Given the description of an element on the screen output the (x, y) to click on. 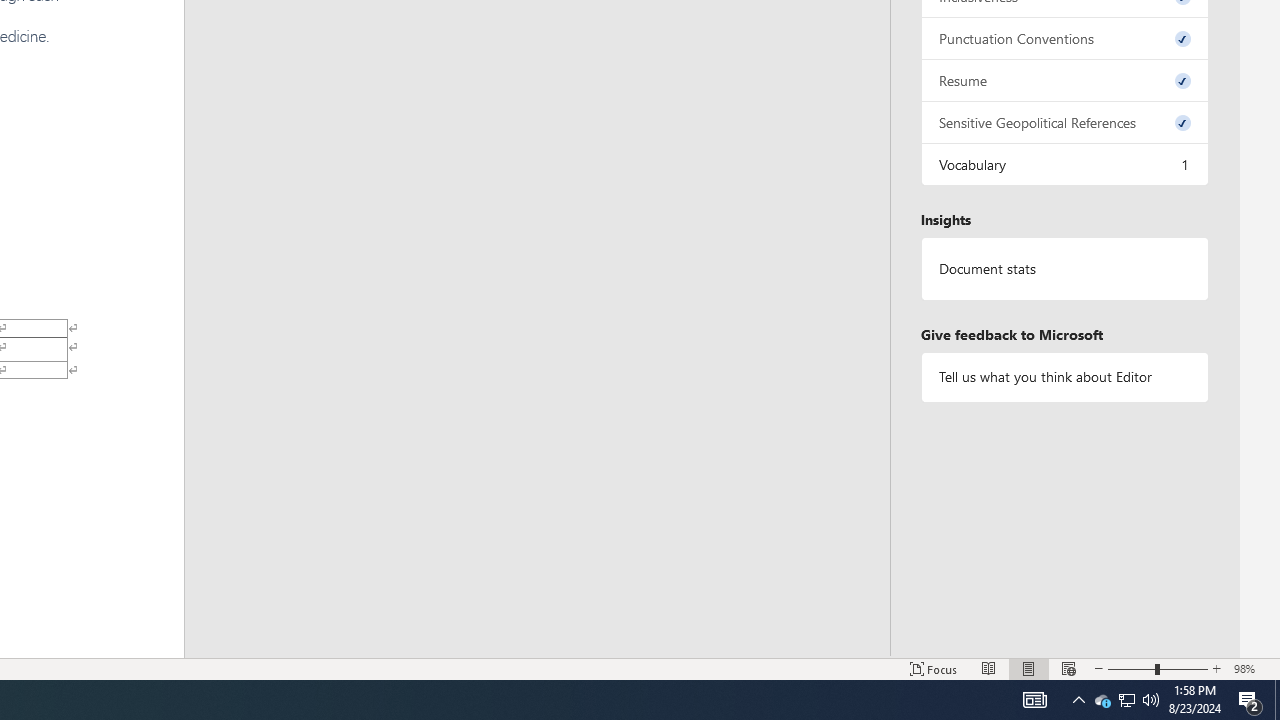
Print Layout (1028, 668)
Web Layout (1069, 668)
Zoom (1158, 668)
Tell us what you think about Editor (1064, 376)
Vocabulary, 1 issue. Press space or enter to review items. (1064, 164)
Zoom Out (1131, 668)
Focus  (934, 668)
Zoom In (1217, 668)
Resume, 0 issues. Press space or enter to review items. (1064, 79)
Document statistics (1064, 269)
Read Mode (988, 668)
